Given the description of an element on the screen output the (x, y) to click on. 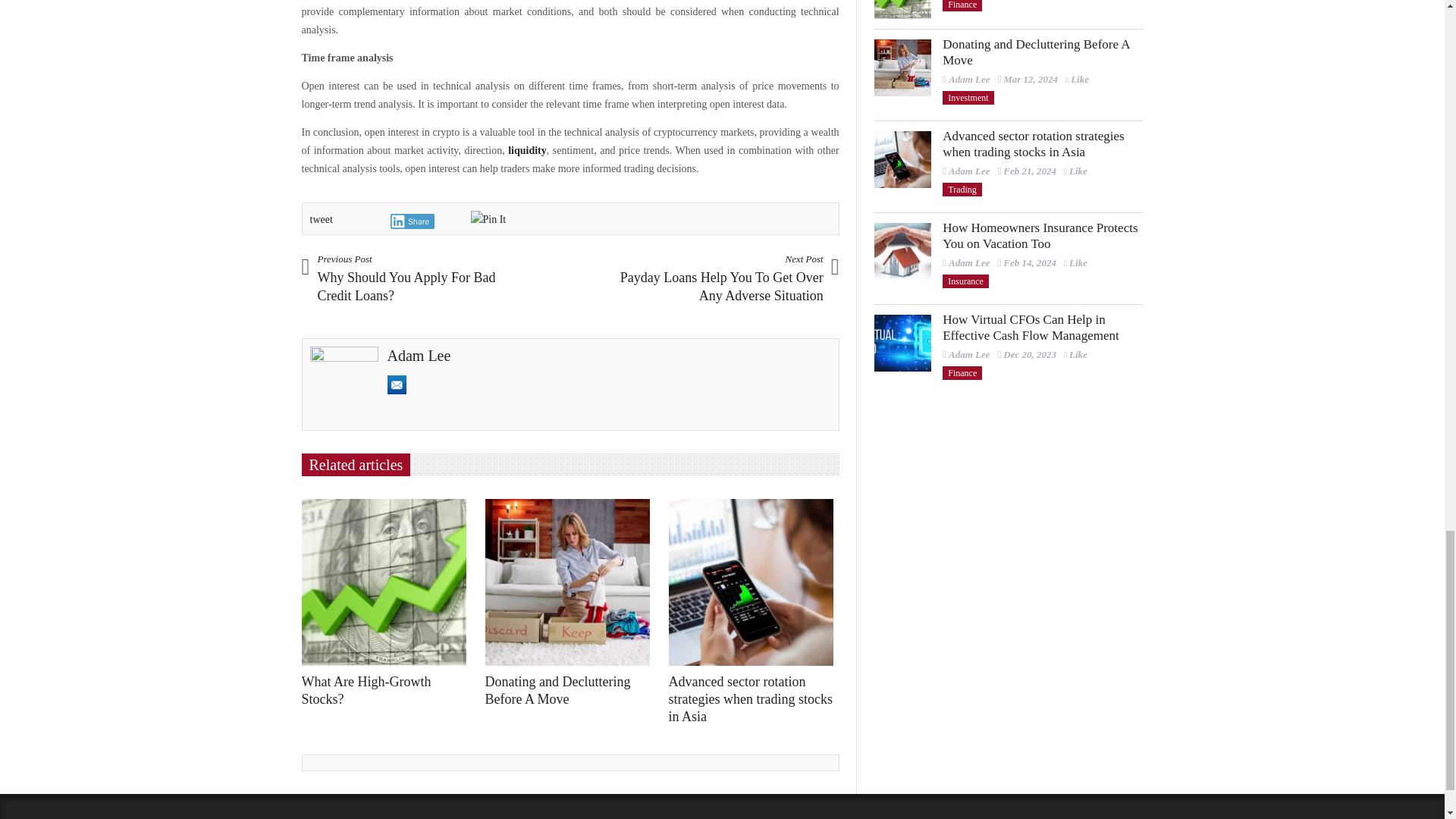
What Are High-Growth Stocks? (903, 9)
Donating and Decluttering Before A Move (903, 67)
Pin It (487, 219)
Permanent link to Donating and Decluttering Before A Move (557, 690)
What Are High-Growth Stocks? (387, 581)
Permanent link to What Are High-Growth Stocks? (365, 690)
Donating and Decluttering Before A Move (571, 581)
Posts by Adam Lee (969, 79)
